Given the description of an element on the screen output the (x, y) to click on. 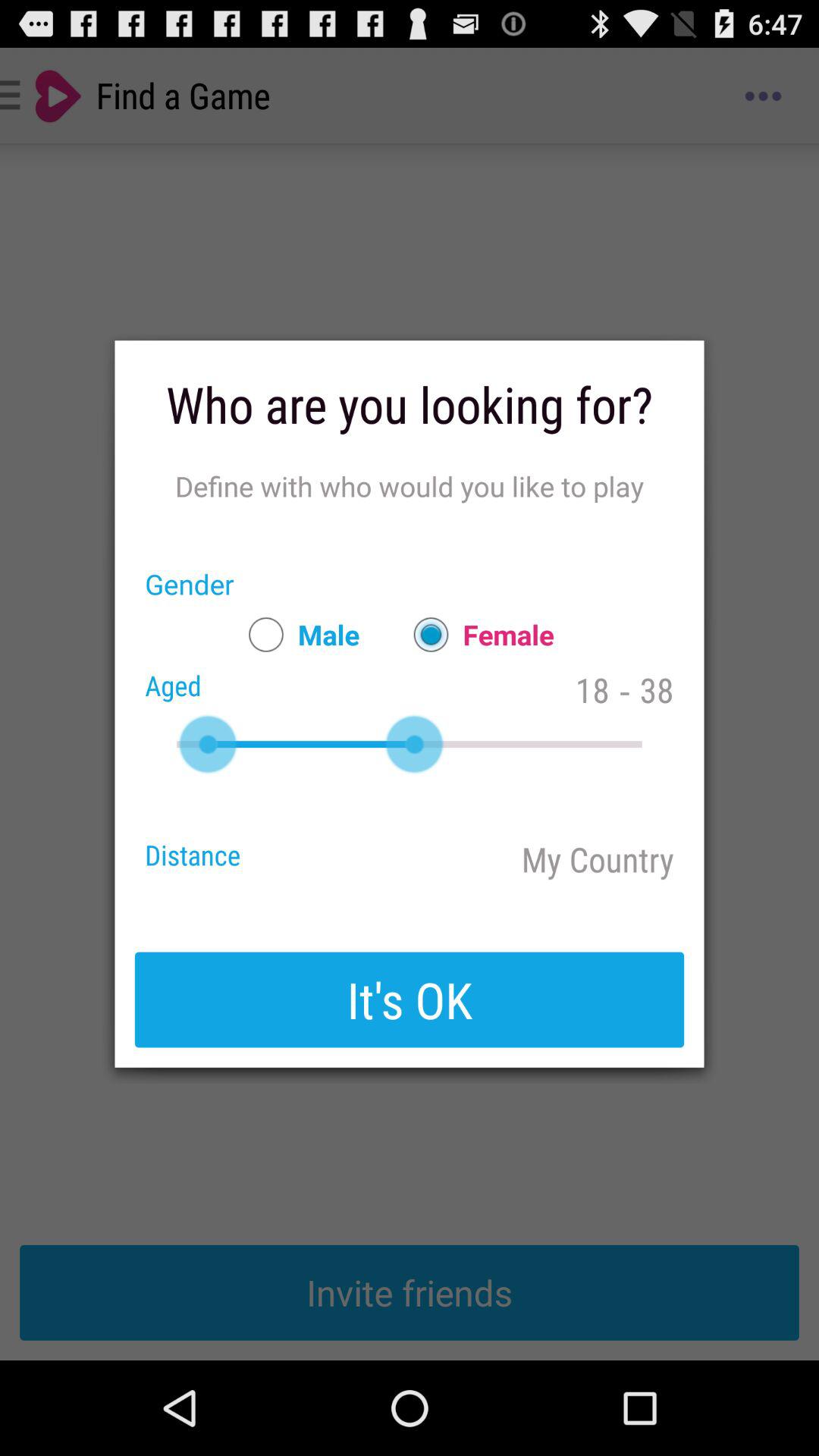
turn on the male item (296, 634)
